Given the description of an element on the screen output the (x, y) to click on. 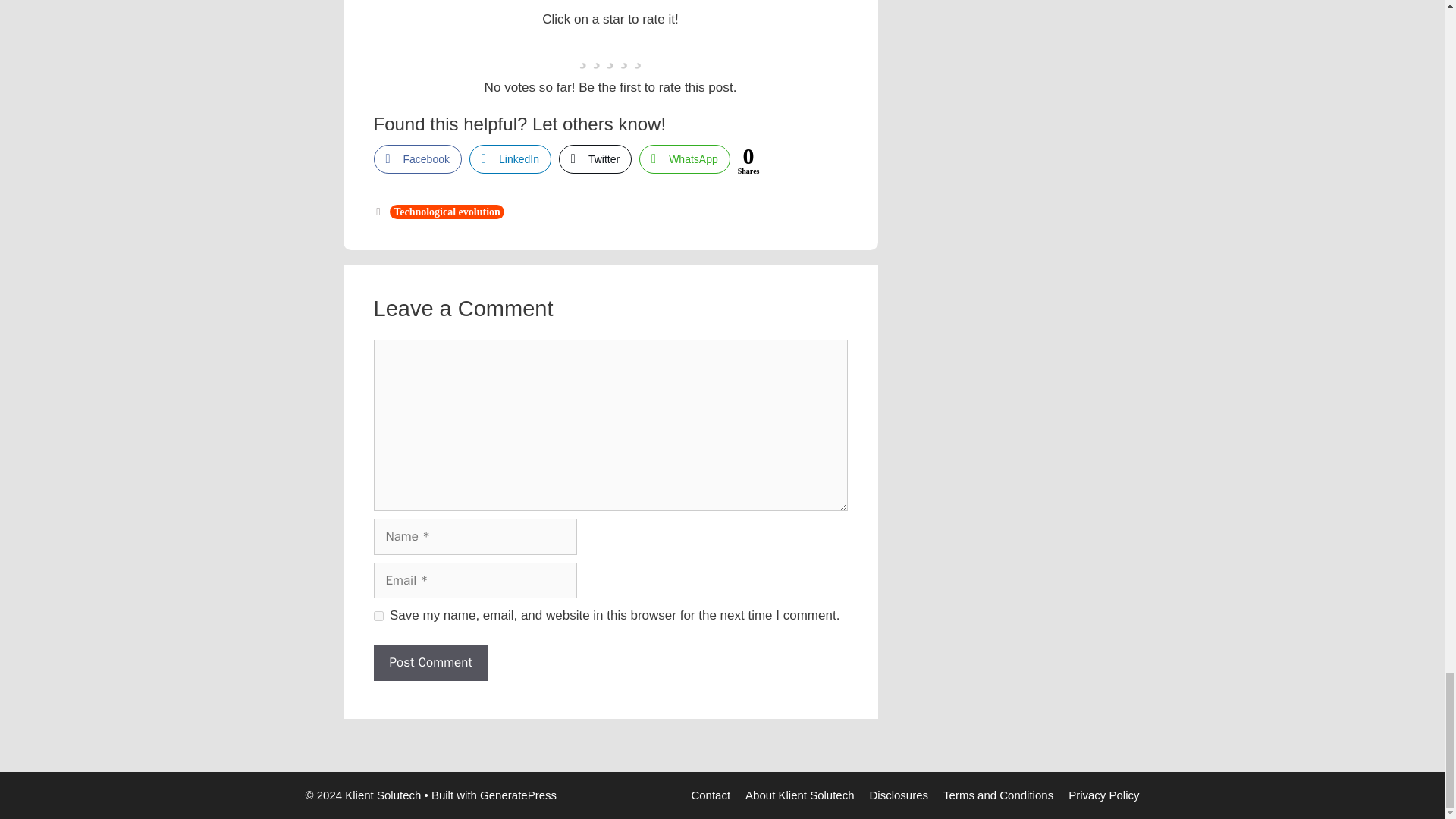
Post Comment (429, 662)
yes (377, 615)
